Given the description of an element on the screen output the (x, y) to click on. 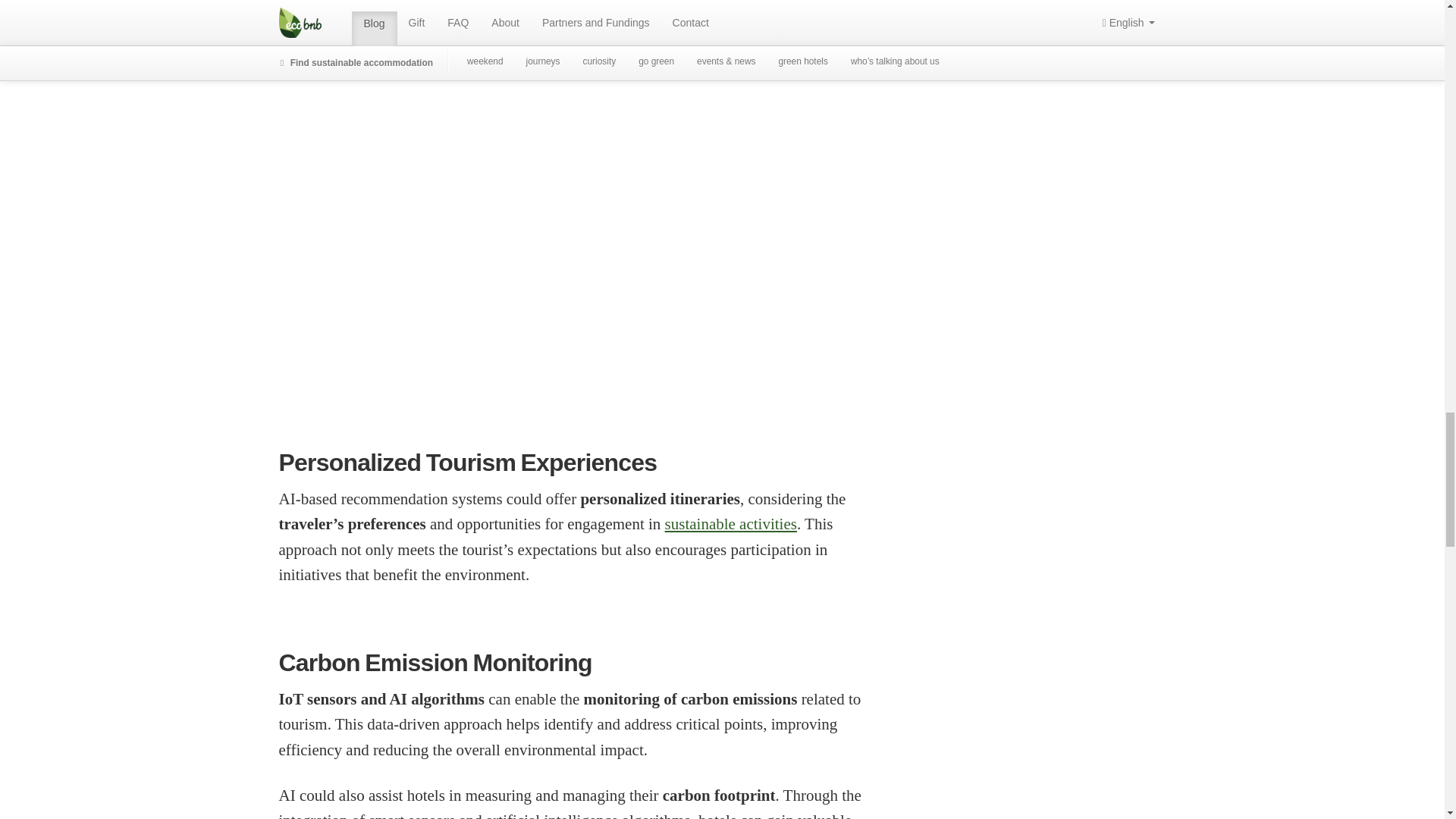
sustainable activities (730, 524)
